Given the description of an element on the screen output the (x, y) to click on. 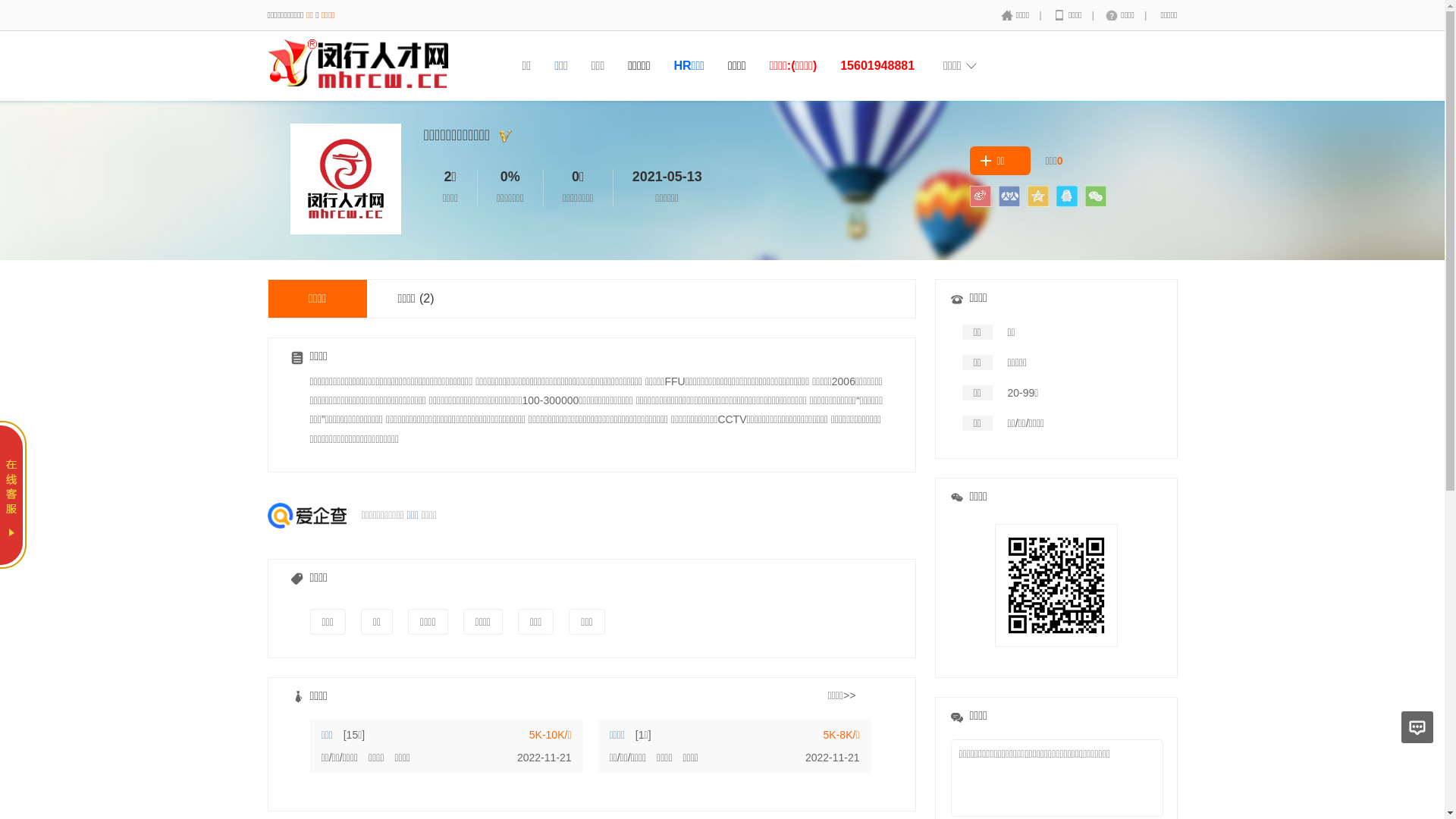
15601948881 Element type: text (877, 65)
